Given the description of an element on the screen output the (x, y) to click on. 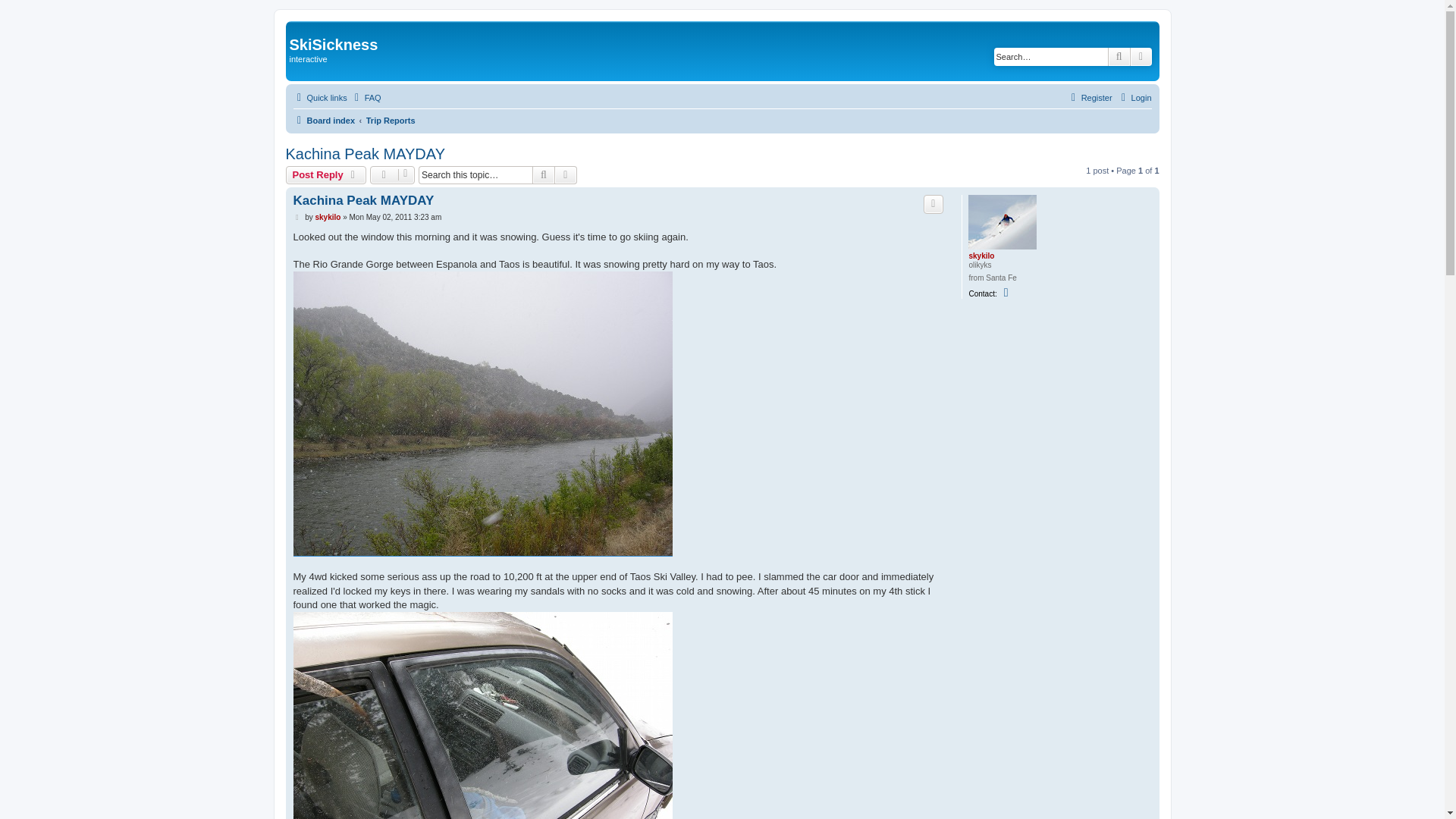
Reply with quote (933, 203)
Board index (323, 120)
Post (297, 216)
Post Reply (325, 175)
Post a reply (325, 175)
Search (543, 175)
Search (543, 175)
FAQ (365, 97)
Trip Reports (390, 120)
skykilo (327, 216)
Contact skykilo (1006, 292)
skykilo (981, 255)
Topic tools (391, 175)
Quick links (319, 97)
Login (1134, 97)
